Given the description of an element on the screen output the (x, y) to click on. 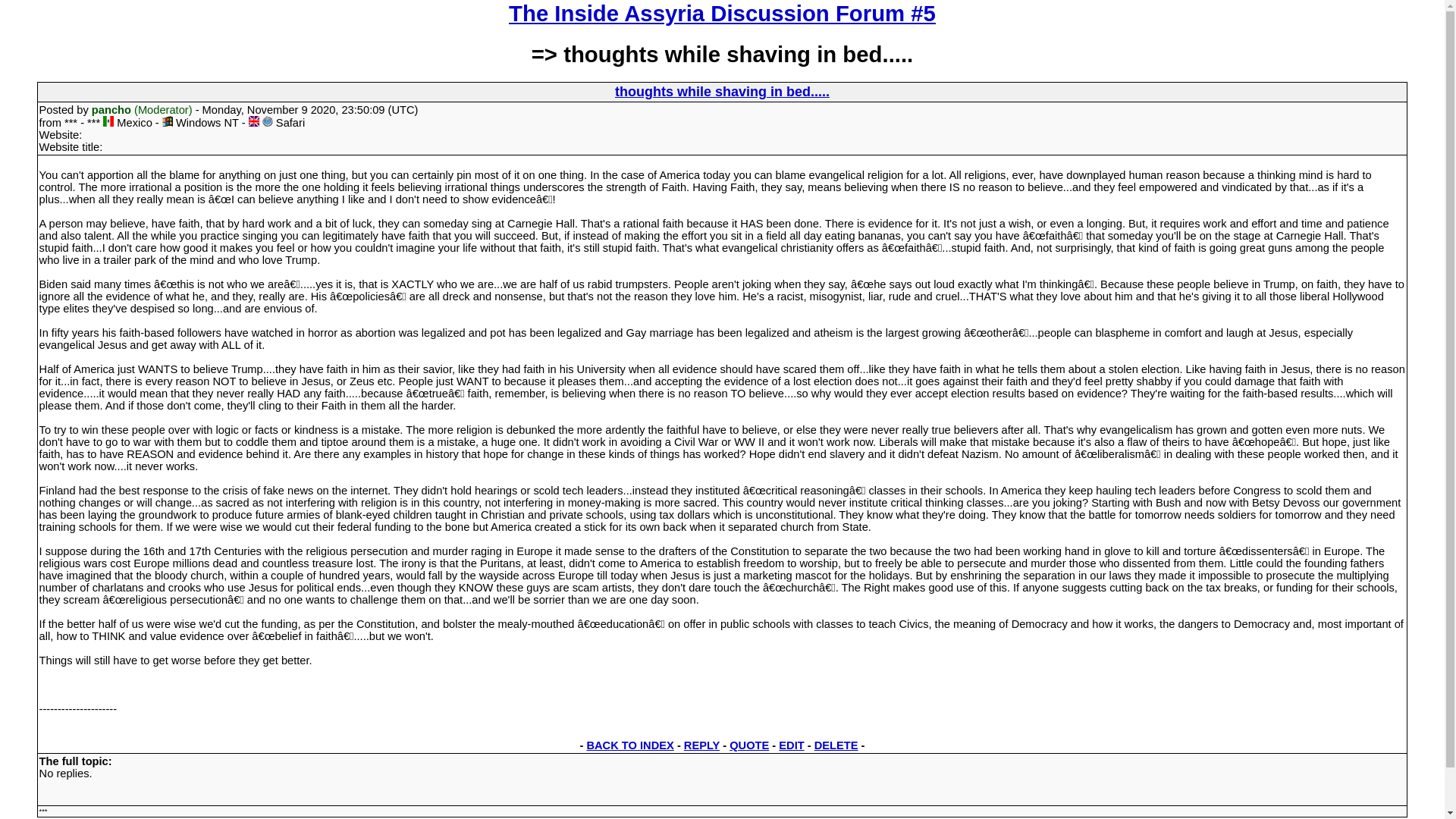
BACK TO INDEX (629, 745)
REPLY (701, 745)
QUOTE (748, 745)
EDIT (790, 745)
thoughts while shaving in bed..... (721, 91)
DELETE (836, 745)
